Given the description of an element on the screen output the (x, y) to click on. 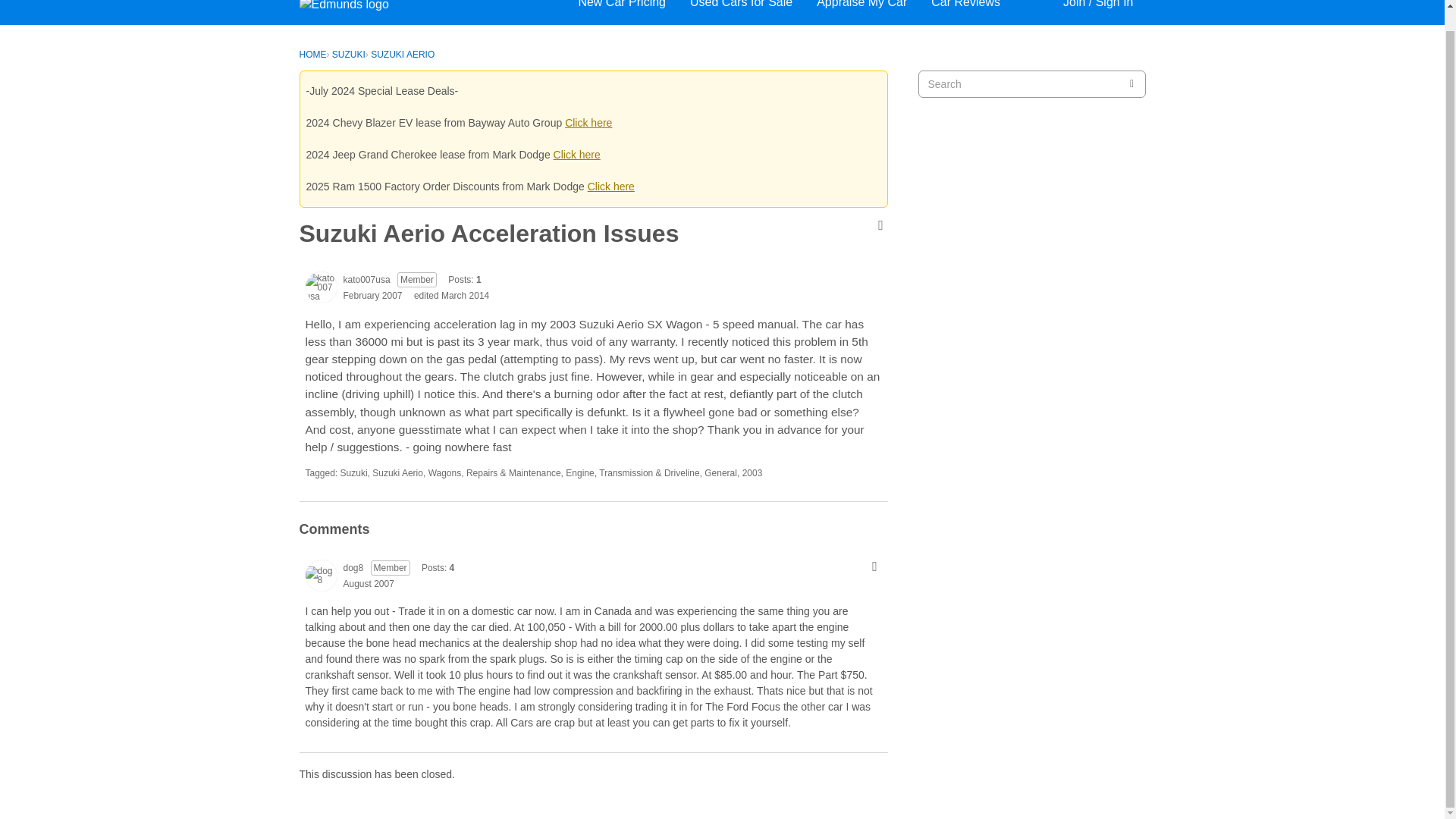
Suzuki Aerio (397, 472)
August 9, 2007 2:52PM (367, 583)
dog8 (352, 567)
Car Reviews (965, 6)
Go (1131, 83)
Wagons (444, 472)
Click here (587, 122)
Click here (611, 186)
August 2007 (367, 583)
SUZUKI (348, 54)
kato007usa (366, 279)
February 2007 (371, 295)
Suzuki (354, 472)
kato007usa (320, 287)
HOME (312, 54)
